Given the description of an element on the screen output the (x, y) to click on. 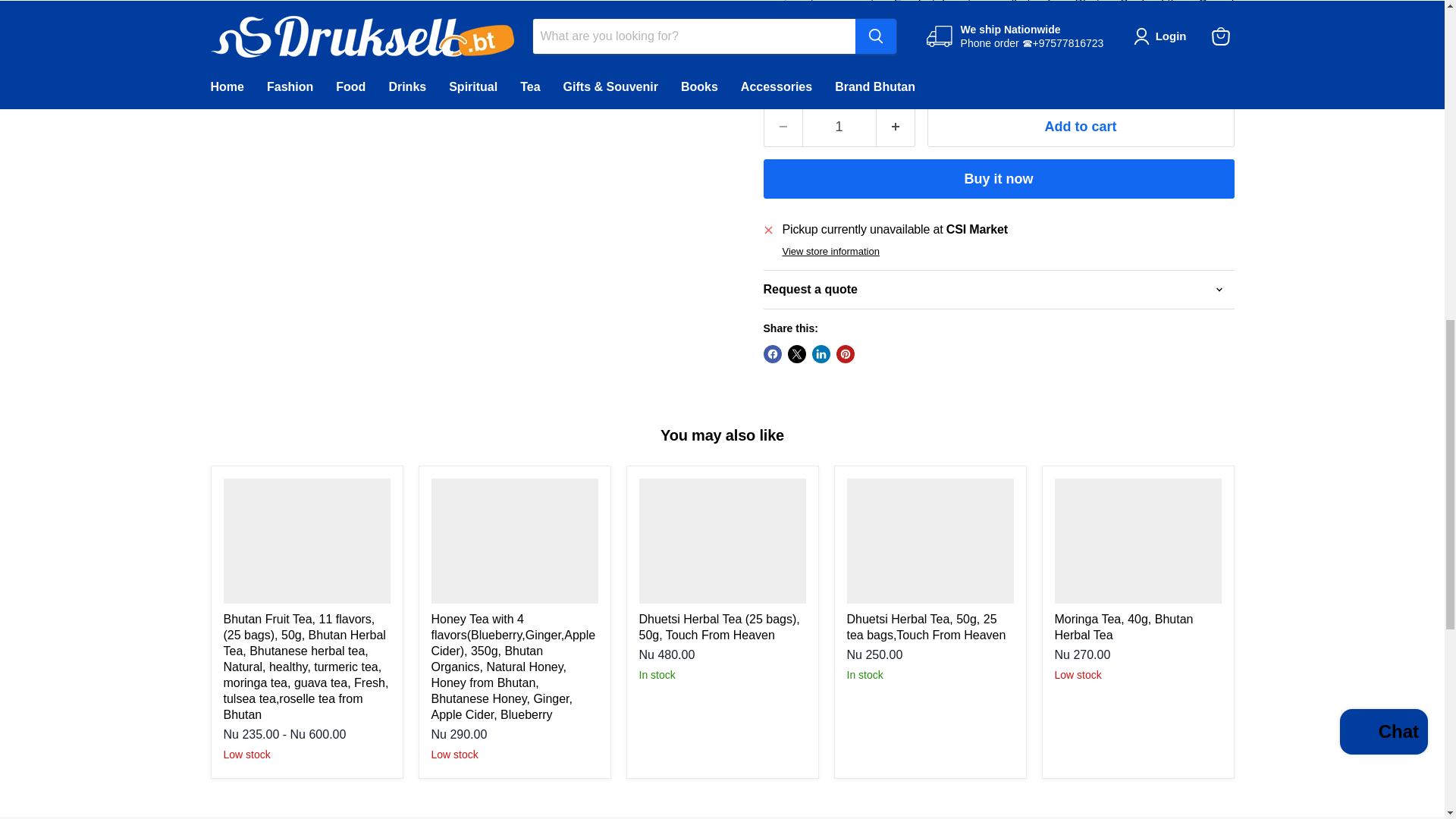
Bhutan Cordyceps Tea (862, 23)
Seabuckthorn Cereal Roast (997, 15)
Mistletoe Tea from Bhutan (912, 42)
Himalayan Gooseberry Tea (1037, 23)
Bhutan Minty Highland Mix (991, 33)
Bhutan Tea by Druksell (940, 5)
1 (839, 127)
